Given the description of an element on the screen output the (x, y) to click on. 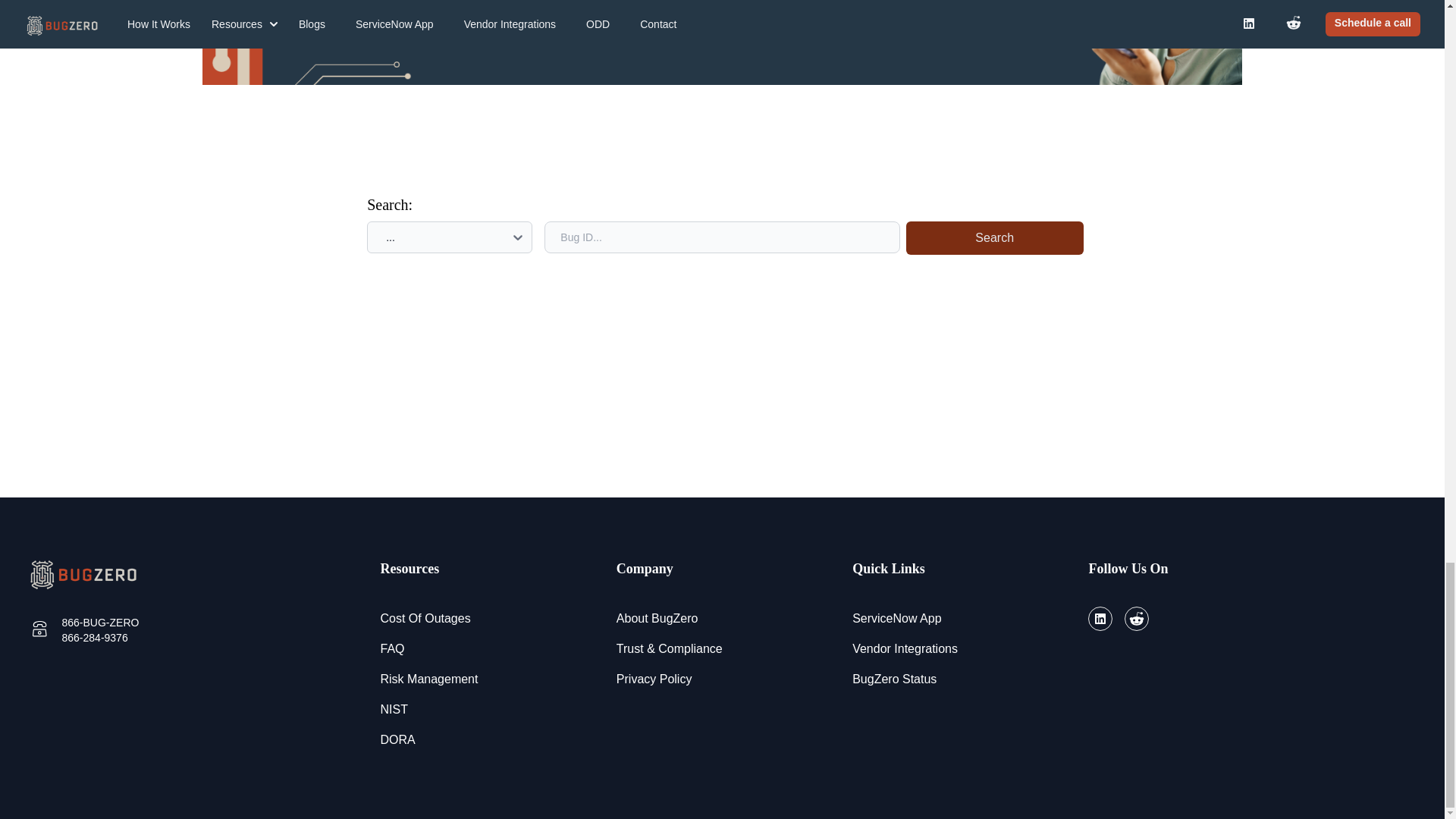
DORA (397, 740)
About BugZero (656, 618)
FAQ (392, 648)
NIST (393, 709)
Privacy Policy (654, 679)
ServiceNow App (895, 618)
Risk Management (429, 679)
Search (994, 237)
Search (991, 237)
BugZero Status (893, 679)
Cost Of Outages (425, 618)
Vendor Integrations (904, 648)
